Given the description of an element on the screen output the (x, y) to click on. 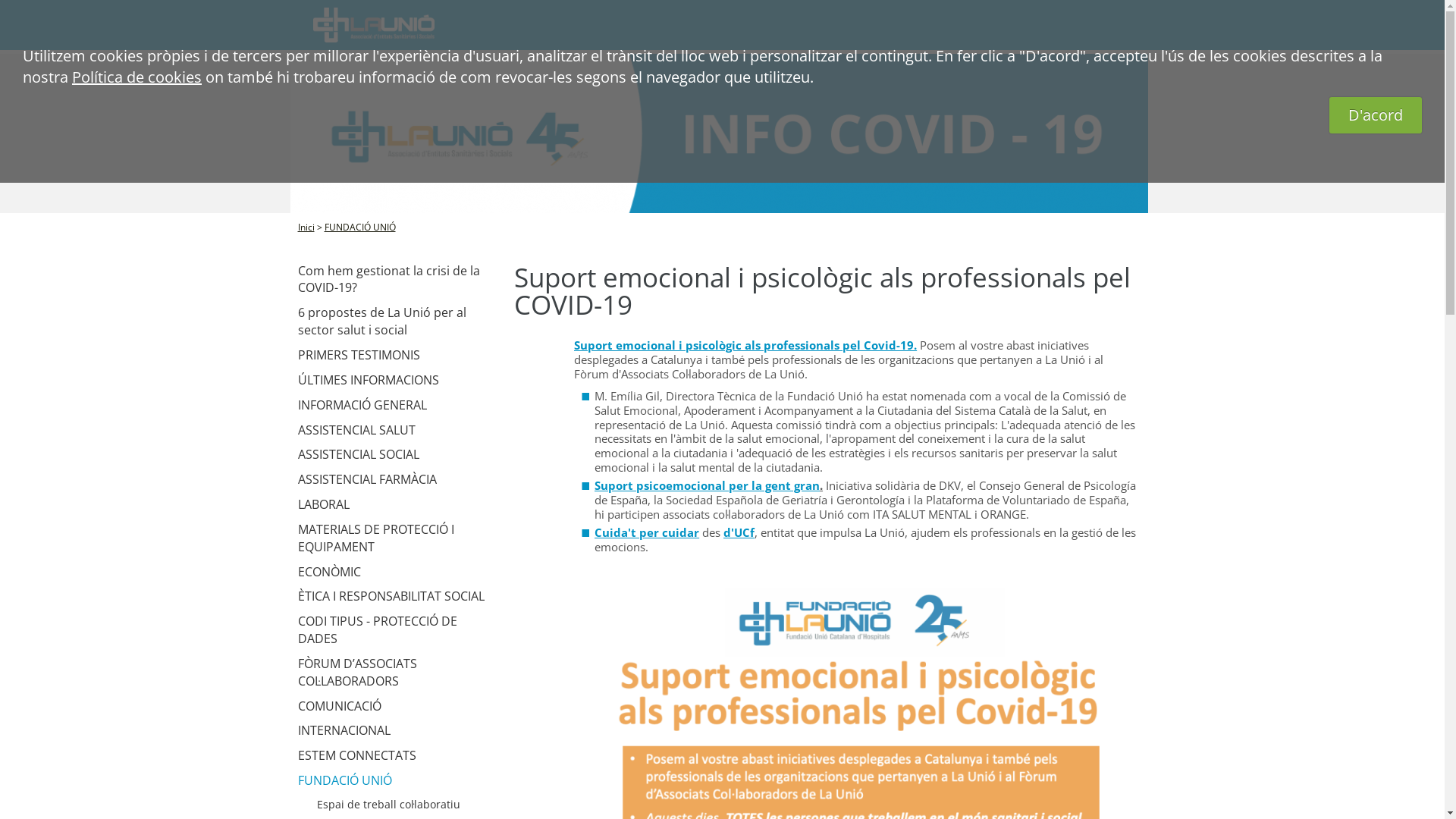
INTERNACIONAL Element type: text (397, 730)
PRIMERS TESTIMONIS Element type: text (397, 354)
Cuida't per cuidar Element type: text (646, 531)
LABORAL Element type: text (397, 504)
Inici Element type: text (305, 226)
ESTEM CONNECTATS Element type: text (397, 755)
d'UCf Element type: text (738, 531)
D'acord Element type: text (1375, 115)
Com hem gestionat la crisi de la COVID-19? Element type: text (397, 279)
Suport psicoemocional per la gent gran Element type: text (706, 484)
ASSISTENCIAL SOCIAL Element type: text (397, 454)
ASSISTENCIAL SALUT Element type: text (397, 429)
